Given the description of an element on the screen output the (x, y) to click on. 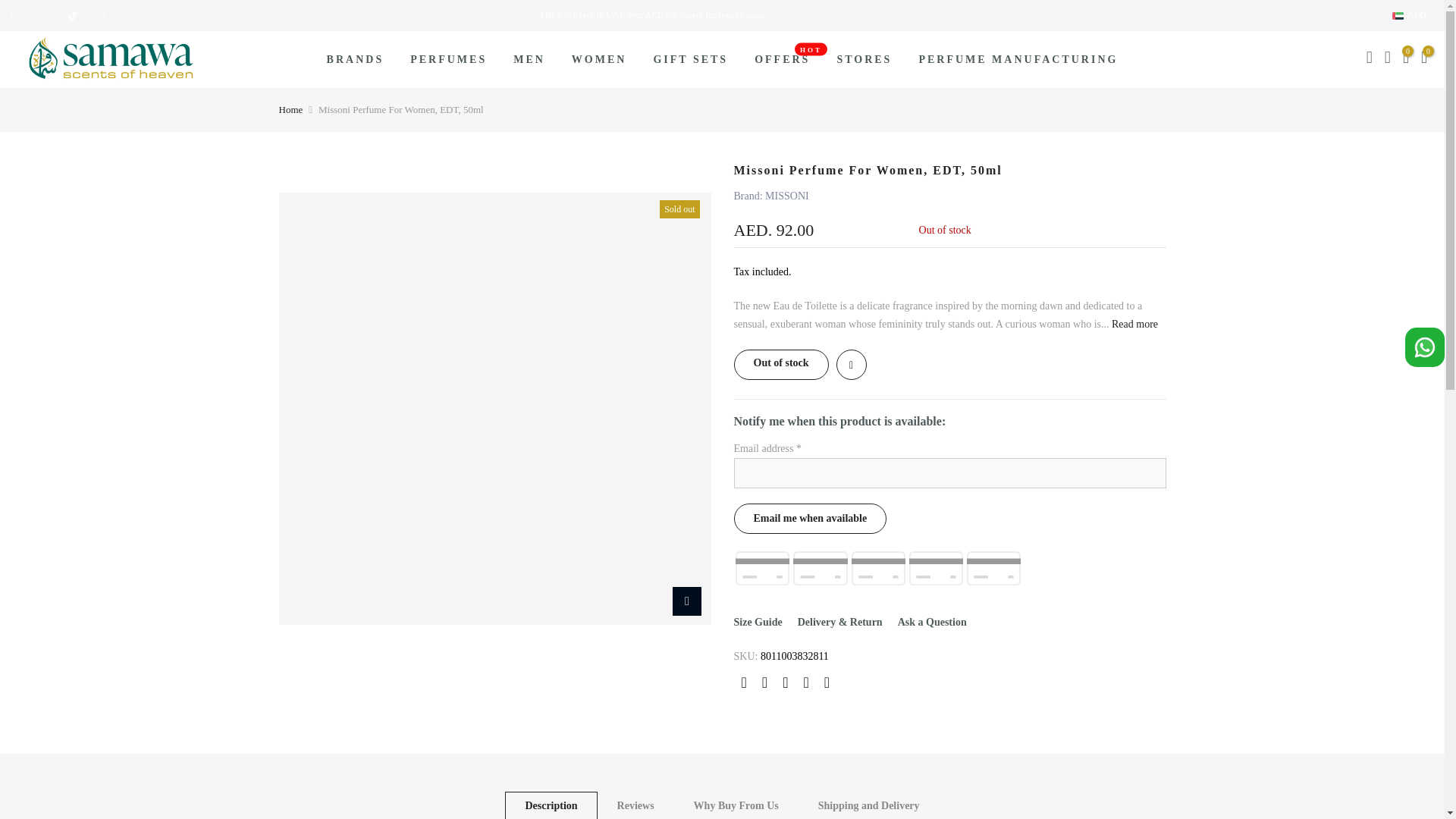
PERFUMES (448, 58)
Email me when available (809, 518)
BRANDS (355, 58)
